Given the description of an element on the screen output the (x, y) to click on. 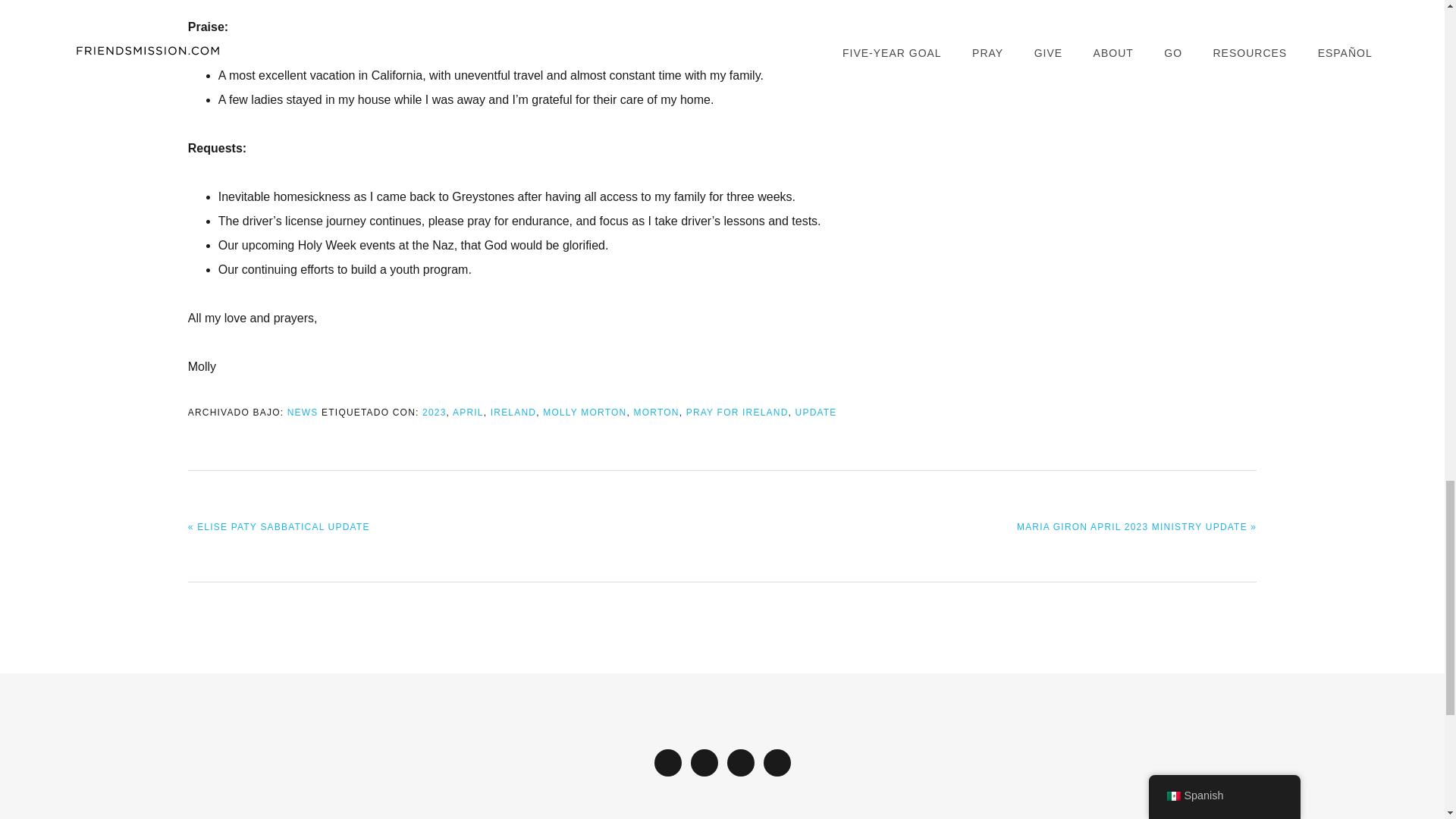
2023 (434, 412)
IRELAND (512, 412)
NEWS (302, 412)
APRIL (467, 412)
